Given the description of an element on the screen output the (x, y) to click on. 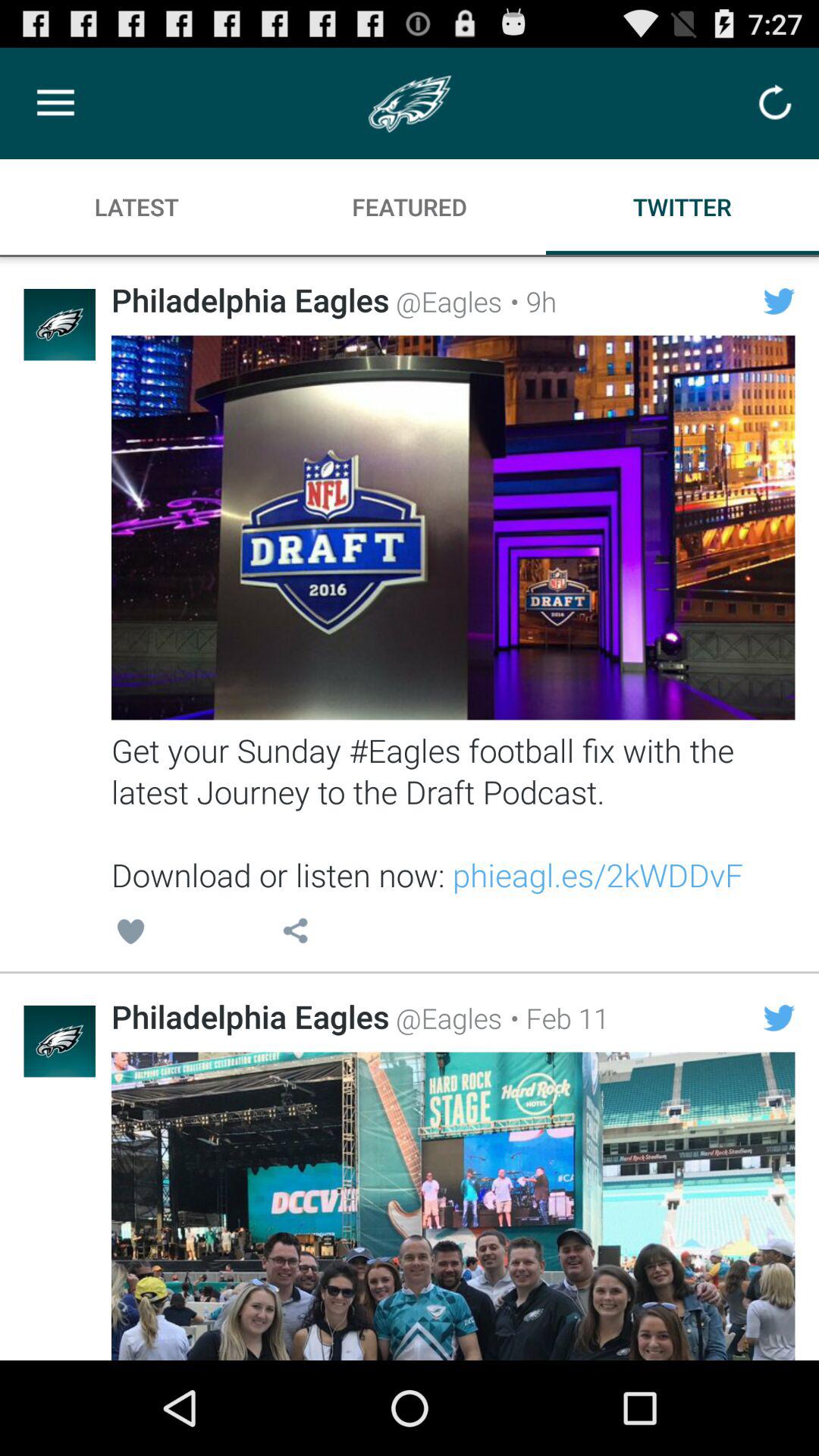
click the icon to the right of the @eagles item (529, 301)
